Given the description of an element on the screen output the (x, y) to click on. 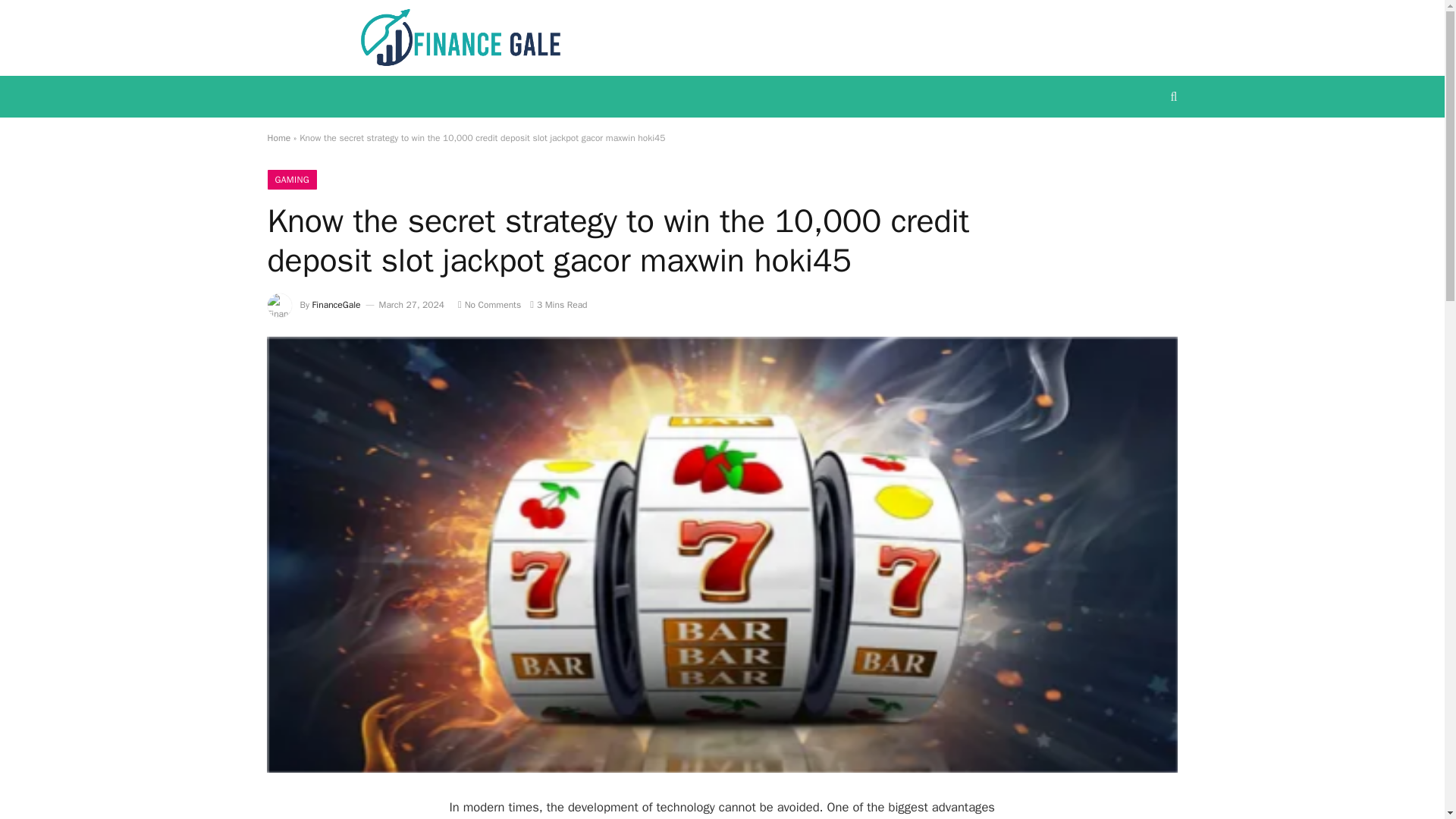
No Comments (489, 304)
Finance Gale (460, 38)
GAMING (291, 179)
Posts by FinanceGale (337, 304)
FinanceGale (337, 304)
Home (277, 137)
